Given the description of an element on the screen output the (x, y) to click on. 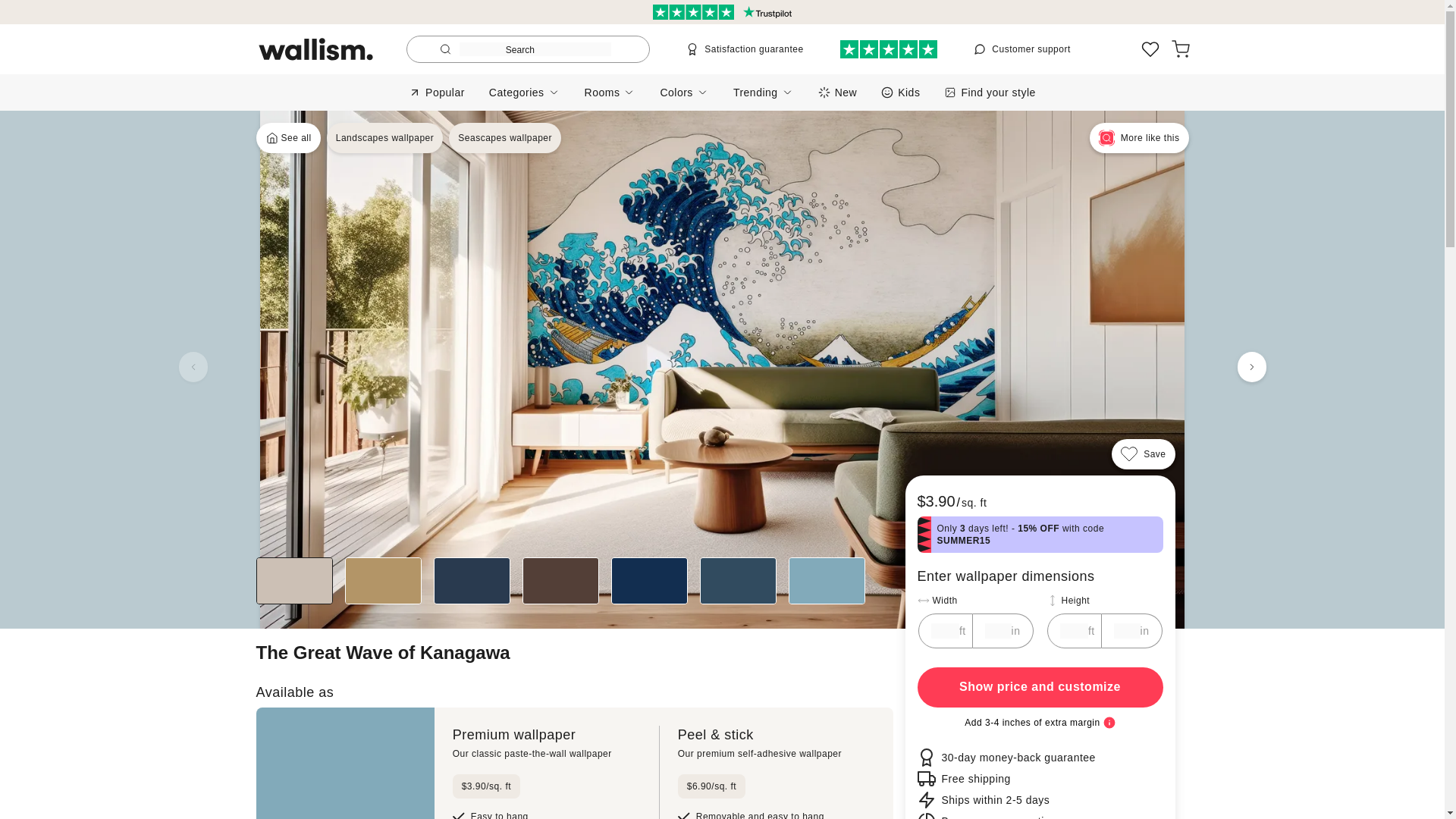
Popular (436, 91)
Satisfaction guarantee (744, 49)
Show price and customize (504, 137)
Kids (1040, 687)
See all (900, 91)
New (385, 137)
Customer support (288, 137)
